Given the description of an element on the screen output the (x, y) to click on. 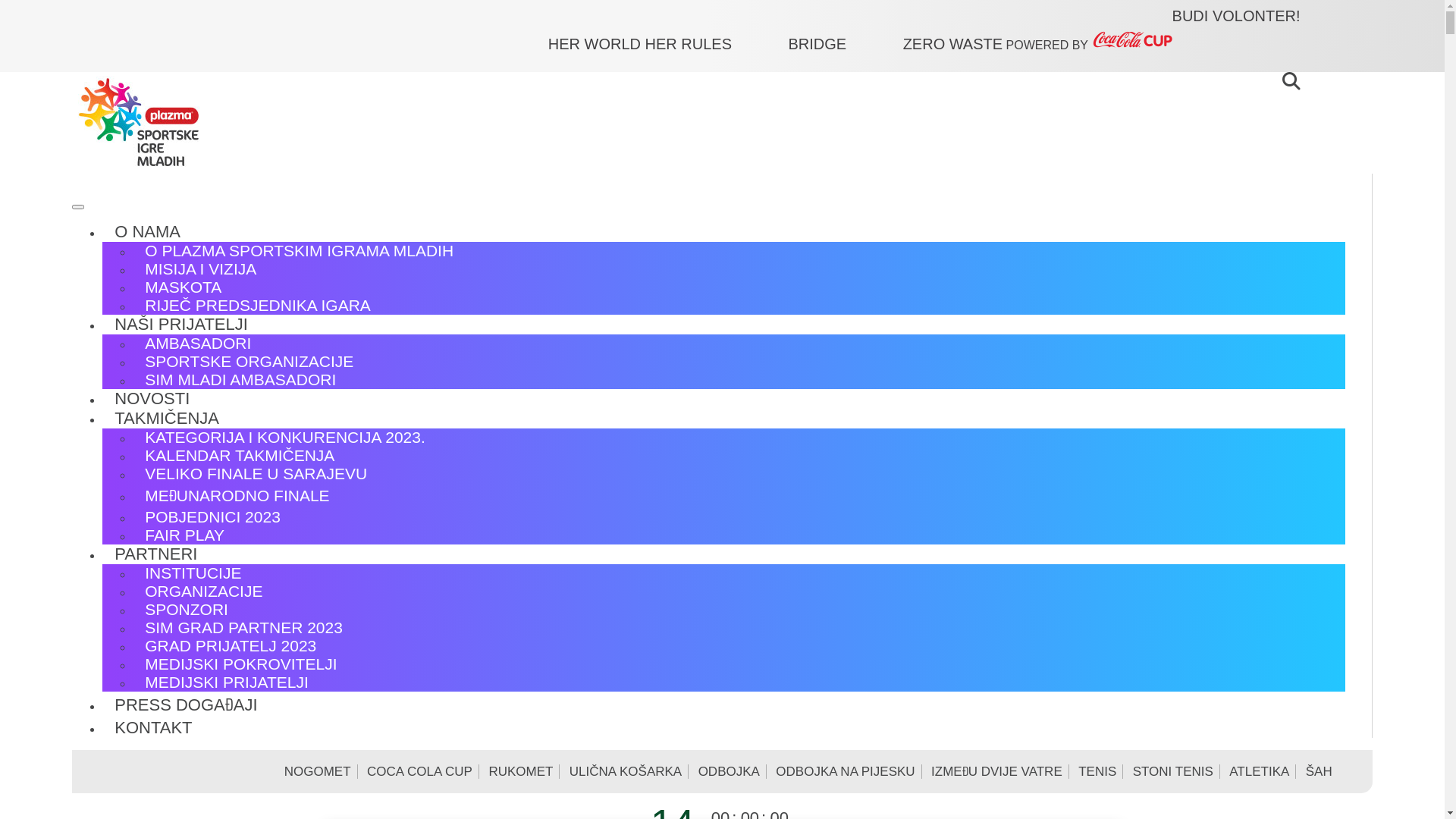
O NAMA Element type: text (147, 232)
KATEGORIJA I KONKURENCIJA 2023. Element type: text (284, 436)
SIM GRAD PARTNER 2023 Element type: text (243, 627)
TENIS Element type: text (1097, 771)
INSTITUCIJE Element type: text (192, 572)
MISIJA I VIZIJA Element type: text (200, 268)
SPORTSKE ORGANIZACIJE Element type: text (248, 361)
ORGANIZACIJE Element type: text (203, 590)
SPONZORI Element type: text (186, 609)
MASKOTA Element type: text (182, 286)
PARTNERI Element type: text (155, 554)
AMBASADORI Element type: text (197, 342)
NOGOMET Element type: text (317, 771)
KONTAKT Element type: text (152, 728)
FAIR PLAY Element type: text (184, 534)
ODBOJKA Element type: text (729, 771)
ATLETIKA Element type: text (1259, 771)
POBJEDNICI 2023 Element type: text (212, 516)
GRAD PRIJATELJ 2023 Element type: text (230, 645)
RUKOMET Element type: text (520, 771)
VELIKO FINALE U SARAJEVU Element type: text (255, 473)
BRIDGE Element type: text (843, 44)
SIM MLADI AMBASADORI Element type: text (240, 379)
COCA COLA CUP Element type: text (419, 771)
HER WORLD HER RULES Element type: text (666, 44)
MEDIJSKI PRIJATELJI Element type: text (226, 681)
O PLAZMA SPORTSKIM IGRAMA MLADIH Element type: text (298, 250)
MEDIJSKI POKROVITELJI Element type: text (240, 663)
ODBOJKA NA PIJESKU Element type: text (845, 771)
STONI TENIS Element type: text (1173, 771)
BUDI VOLONTER! Element type: text (1236, 16)
ZERO WASTE POWERED BY Element type: text (1037, 41)
NOVOSTI Element type: text (151, 399)
